Given the description of an element on the screen output the (x, y) to click on. 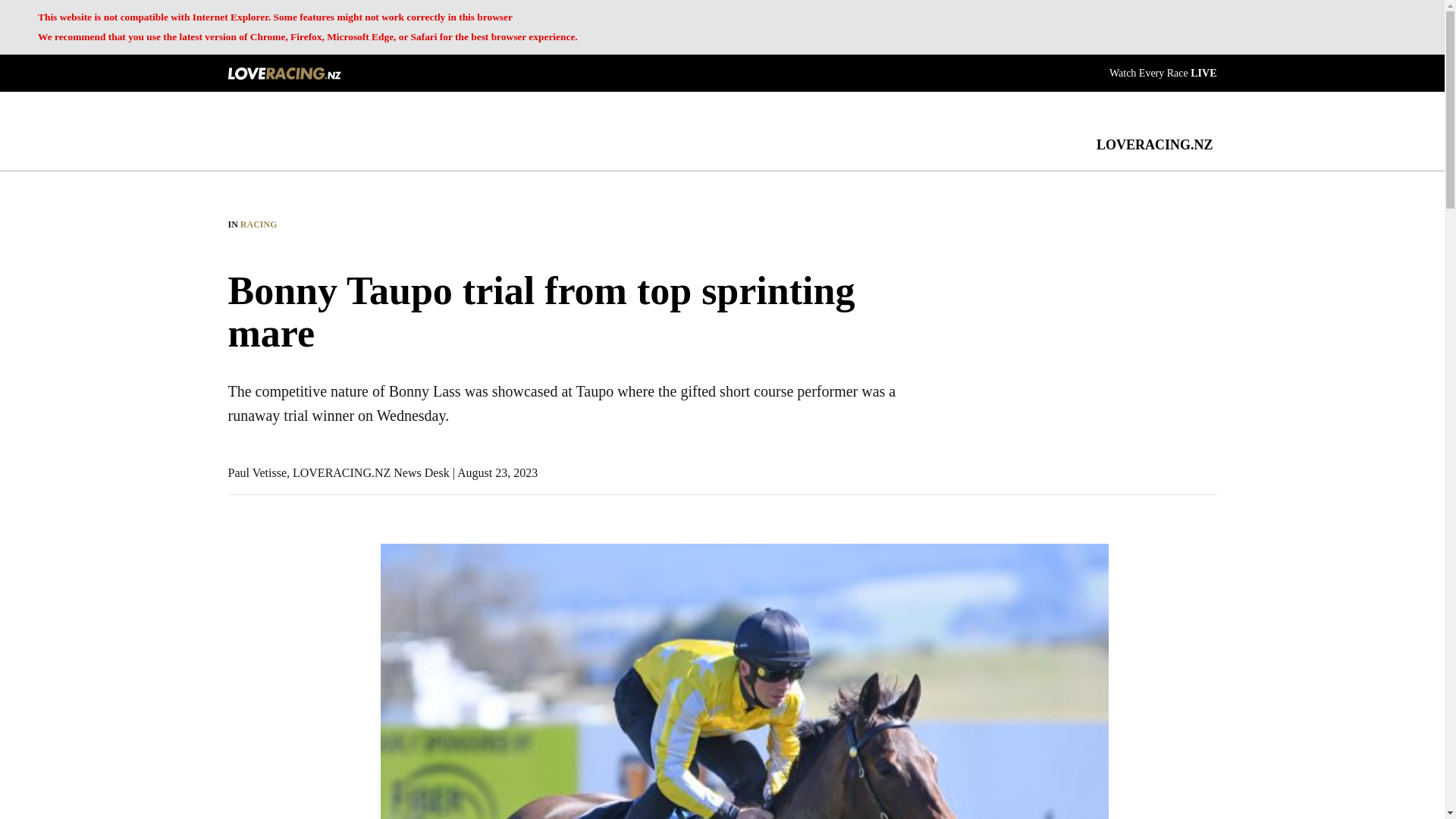
LinkedIn Link to share article on Twitter (235, 626)
Facebook Link to share article on Facebook (235, 550)
Copy Copy article link to clipboard (235, 664)
Copy Copy article link to clipboard (235, 664)
Facebook Link to share article on Facebook (235, 550)
LinkedIn Link to share article on Twitter (235, 626)
Twitter Link to share article on Twitter (235, 589)
RACING (259, 224)
Watch Every Race LIVE (1163, 71)
LOVERACING.NZ (1154, 143)
